Given the description of an element on the screen output the (x, y) to click on. 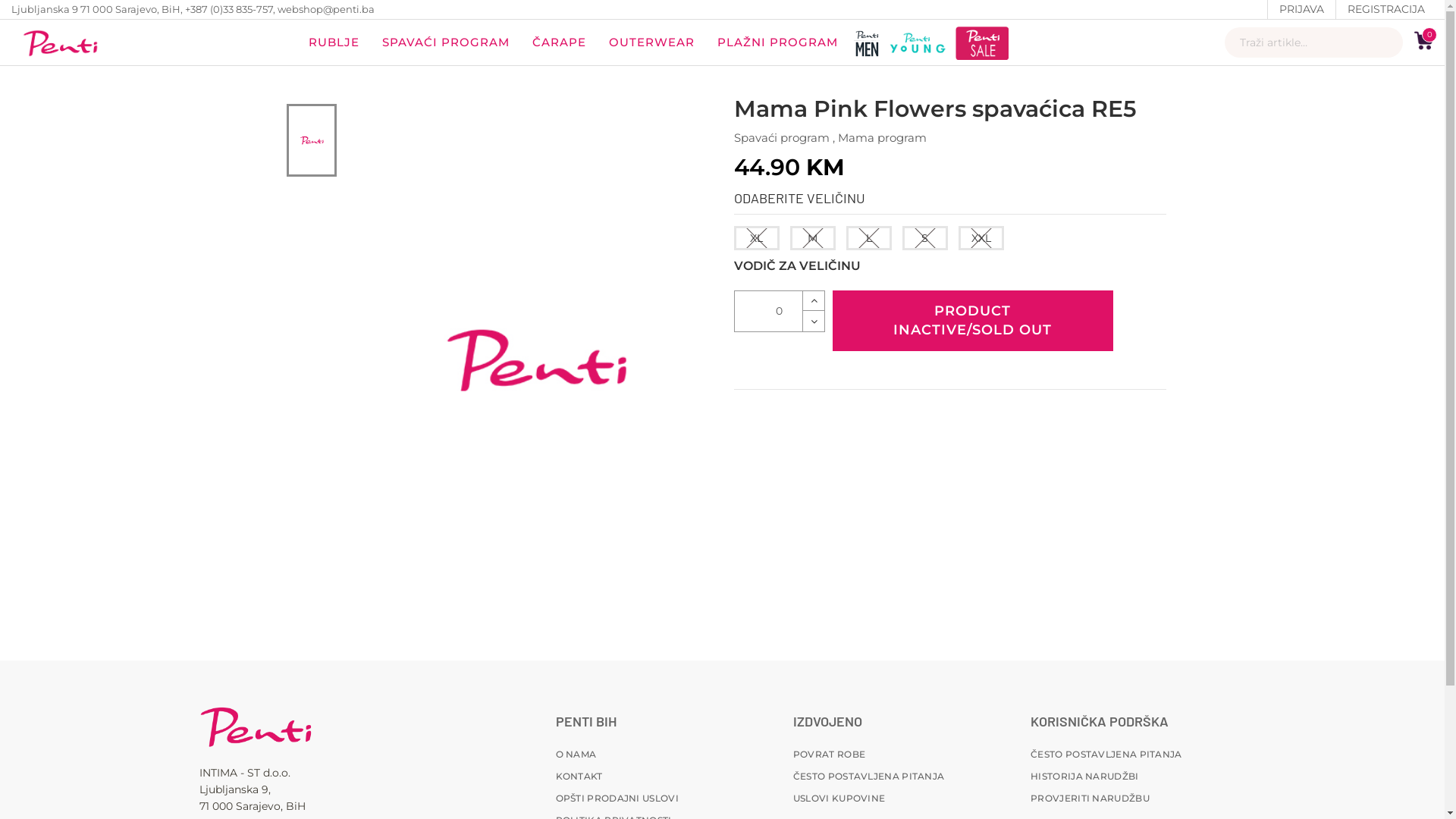
penti-young Element type: hover (917, 42)
OUTERWEAR Element type: text (651, 42)
REGISTRACIJA Element type: text (1385, 9)
penti sale Element type: hover (981, 42)
penti.ba Element type: hover (60, 42)
Mama program Element type: text (881, 137)
XL Element type: text (756, 237)
M Element type: text (812, 237)
0 Element type: text (1423, 40)
O NAMA Element type: text (575, 753)
XXL Element type: text (981, 237)
RUBLJE Element type: text (333, 42)
POVRAT ROBE Element type: text (829, 753)
USLOVI KUPOVINE Element type: text (839, 797)
PRIJAVA Element type: text (1301, 9)
penti men Element type: hover (866, 42)
PRODUCT INACTIVE/SOLD OUT Element type: text (972, 320)
KONTAKT Element type: text (578, 775)
S Element type: text (924, 237)
L Element type: text (868, 237)
